Given the description of an element on the screen output the (x, y) to click on. 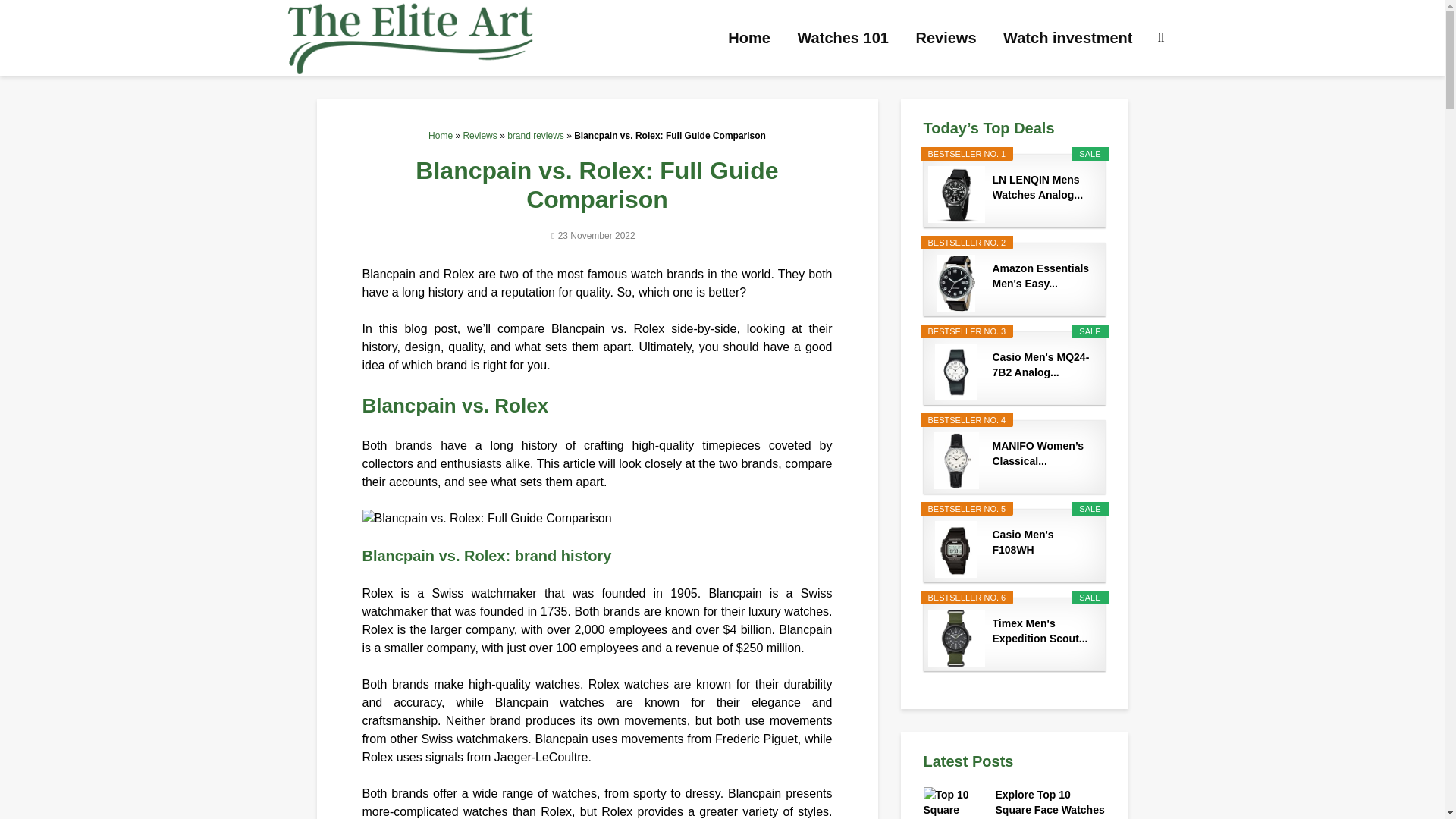
LN LENQIN Mens Watches Analog... (1042, 186)
Casio Men's F108WH Illuminator... (1042, 542)
Amazon Essentials Men's Easy... (1042, 276)
Casio Men's MQ24-7B2 Analog... (1042, 364)
LN LENQIN Mens Watches Analog... (1042, 186)
Watches 101 (842, 37)
Casio Men's F108WH Illuminator... (1042, 542)
brand reviews (535, 135)
Reviews (479, 135)
Amazon Essentials Men's Easy... (1042, 276)
